Given the description of an element on the screen output the (x, y) to click on. 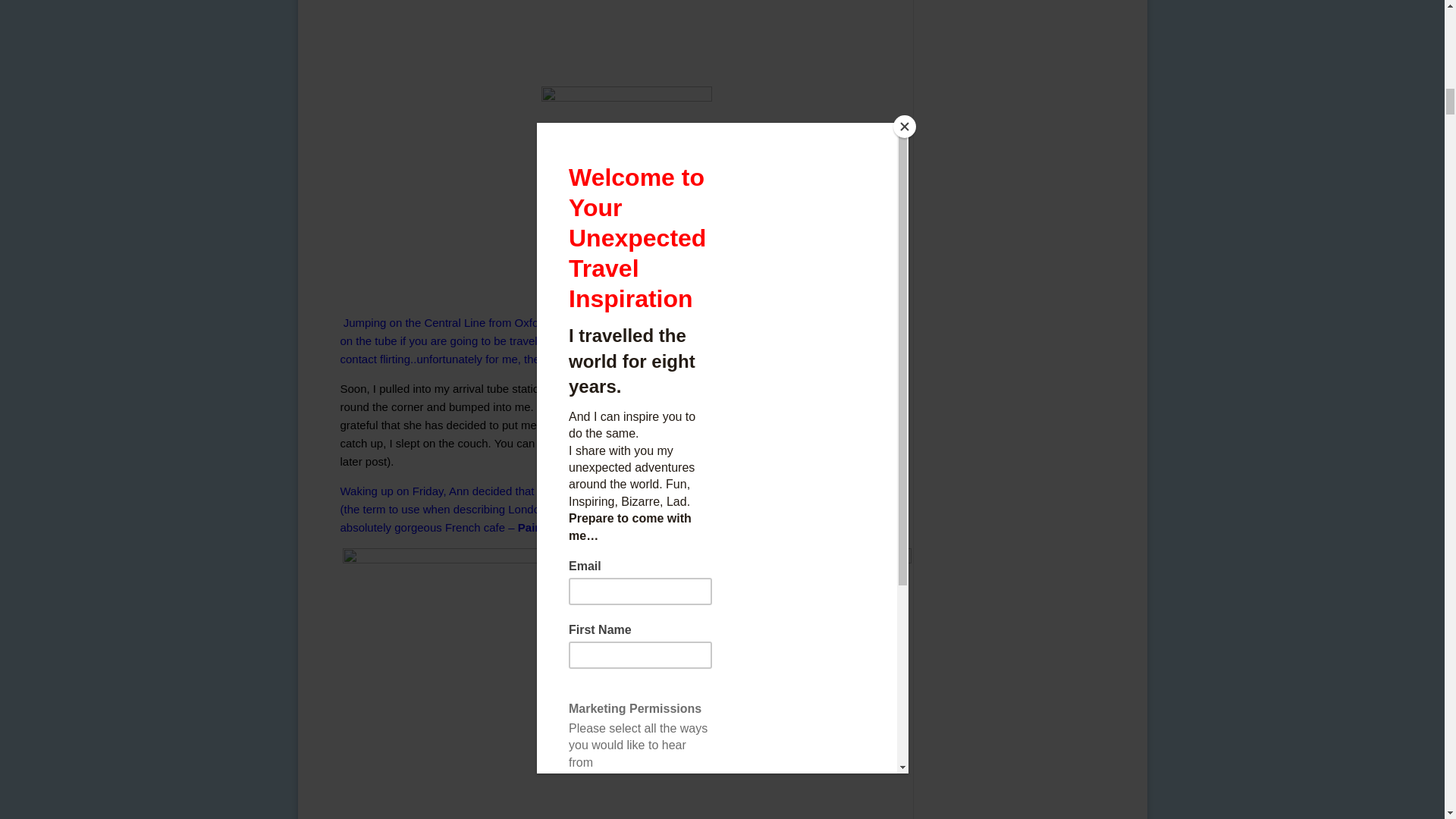
The Underground Train (626, 37)
